Given the description of an element on the screen output the (x, y) to click on. 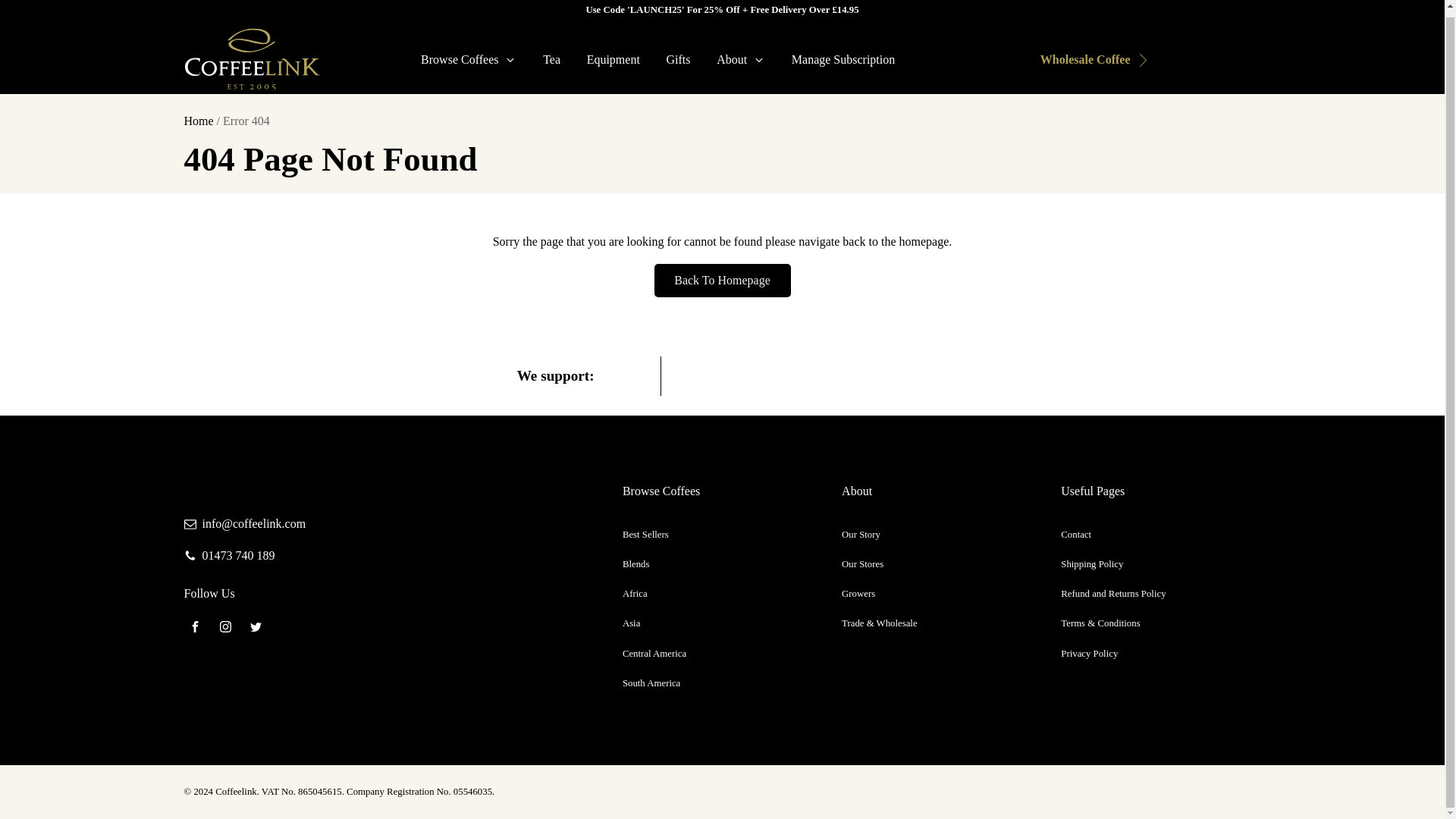
Wholesale Coffee (1082, 59)
Equipment (612, 59)
About (740, 59)
Gifts (677, 59)
Tea (551, 59)
Browse Coffees (468, 59)
Home (197, 120)
Manage Subscription (842, 59)
